Given the description of an element on the screen output the (x, y) to click on. 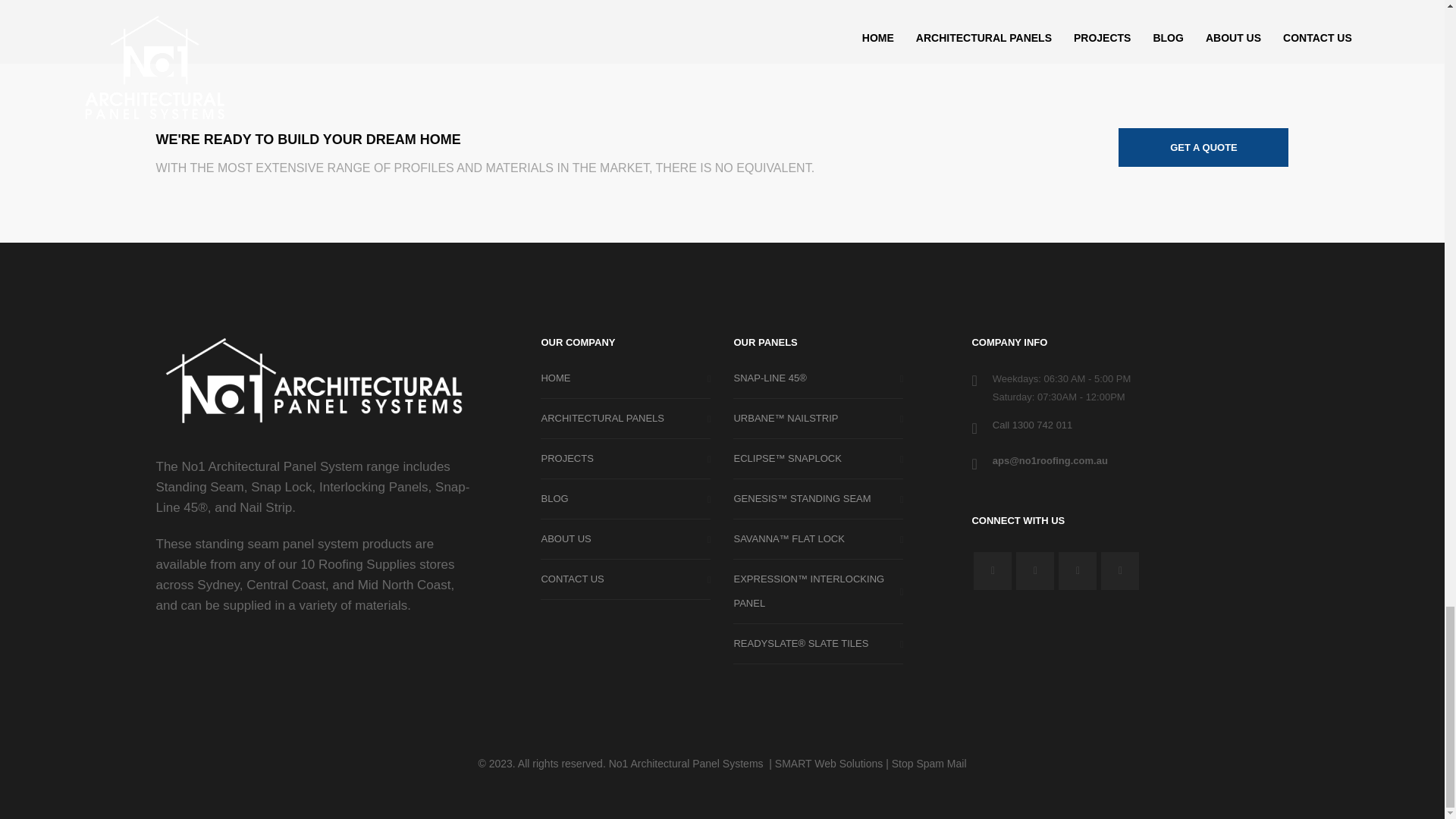
GET A QUOTE (1203, 147)
HOME (625, 378)
ARCHITECTURAL PANELS (625, 418)
PROJECTS (625, 458)
CONTACT US (625, 579)
Call 1300 742 011 (1032, 424)
BLOG (625, 499)
APS Logo Horizontal Small White (313, 383)
ABOUT US (625, 539)
Roofing Supplies (367, 564)
